Given the description of an element on the screen output the (x, y) to click on. 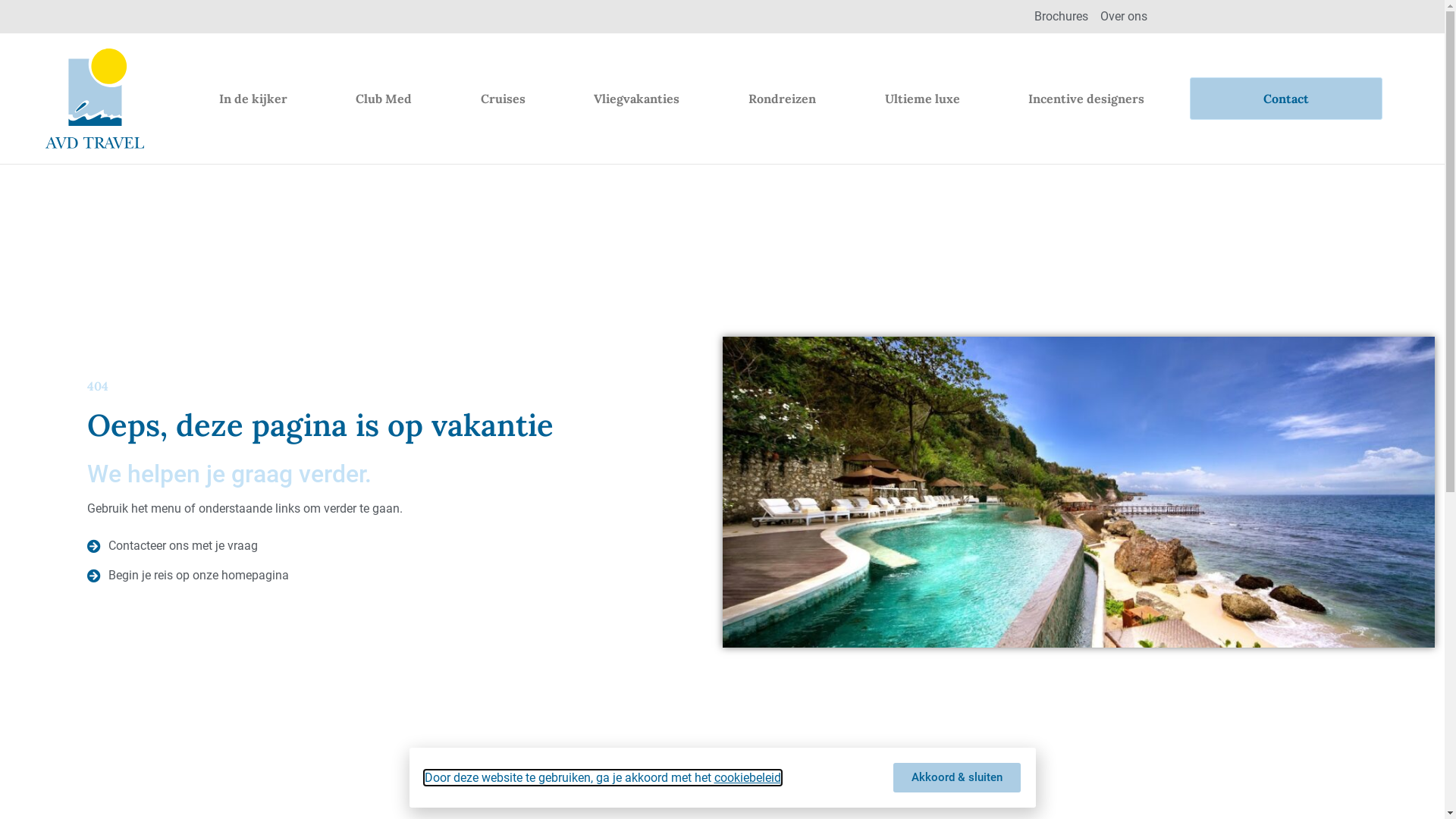
Ultieme luxe Element type: text (921, 98)
Rondreizen Element type: text (782, 98)
Vliegvakanties Element type: text (636, 98)
Incentive designers Element type: text (1086, 98)
Begin je reis op onze homepagina Element type: text (353, 575)
Contacteer ons met je vraag Element type: text (353, 545)
Over ons Element type: text (1122, 16)
In de kijker Element type: text (252, 98)
Club Med Element type: text (383, 98)
Brochures Element type: text (1061, 16)
Cruises Element type: text (503, 98)
Contact Element type: text (1285, 98)
Akkoord & sluiten Element type: text (956, 777)
